Given the description of an element on the screen output the (x, y) to click on. 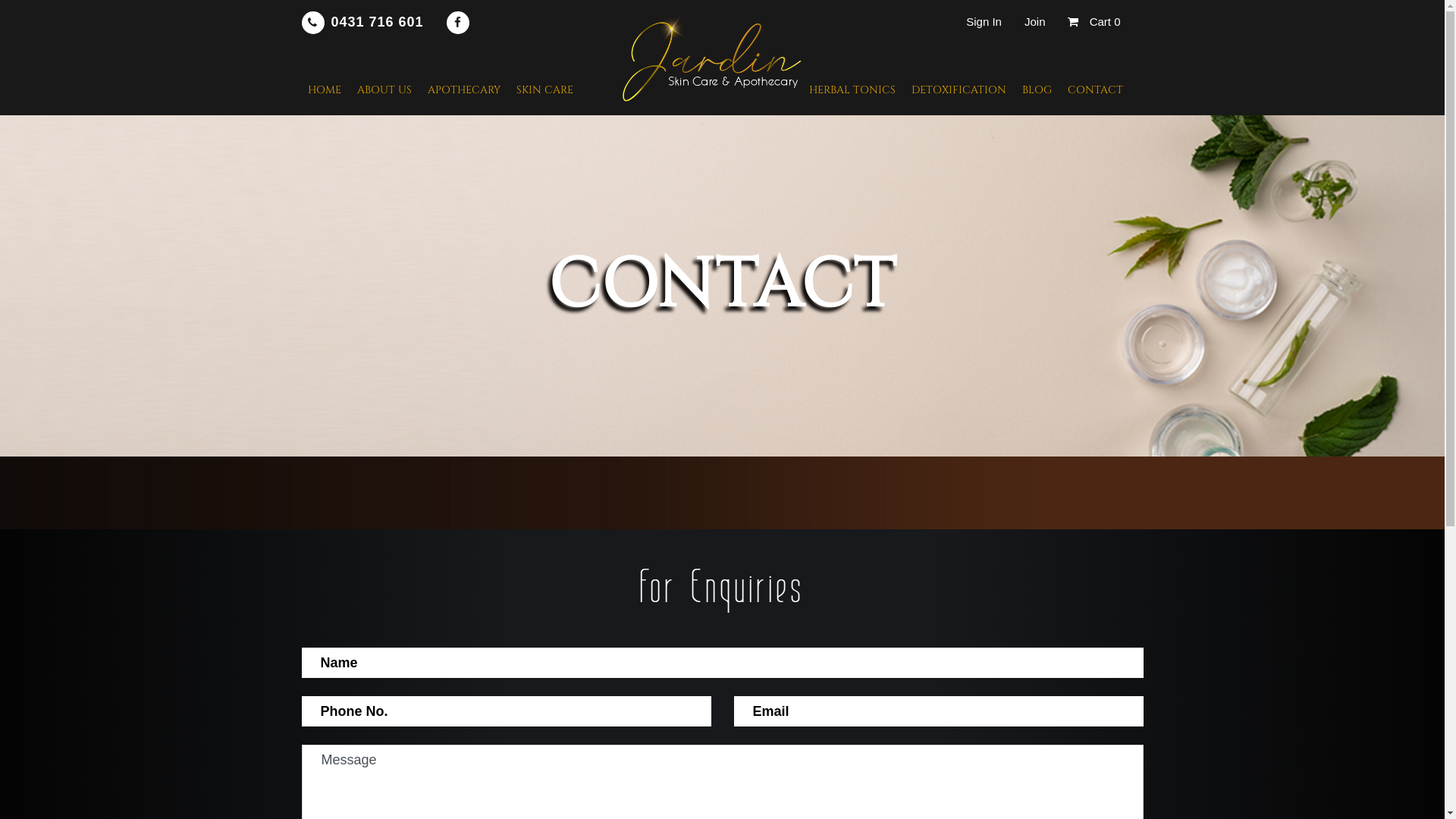
HERBAL TONICS Element type: text (851, 89)
Sign In Element type: text (983, 21)
0431 716 601 Element type: text (362, 21)
CONTACT Element type: text (1095, 89)
DETOXIFICATION Element type: text (958, 89)
Cart 0 Element type: text (1093, 21)
ABOUT US Element type: text (383, 89)
HOME Element type: text (324, 89)
APOTHECARY Element type: text (463, 89)
Join Element type: text (1034, 21)
SKIN CARE Element type: text (543, 89)
BLOG Element type: text (1036, 89)
